Given the description of an element on the screen output the (x, y) to click on. 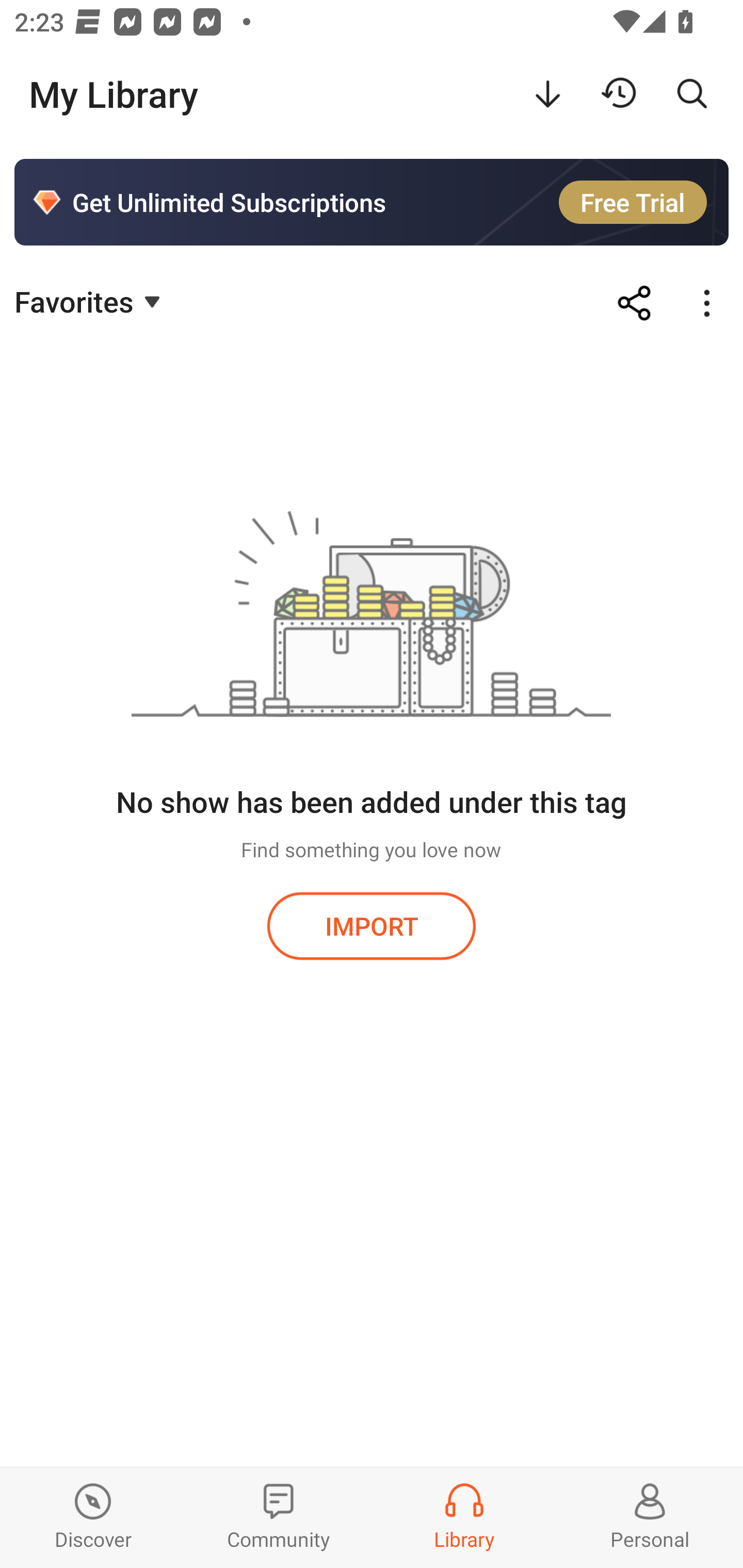
Get Unlimited Subscriptions Free Trial (371, 202)
Free Trial (632, 202)
Favorites (90, 300)
IMPORT (371, 925)
Discover (92, 1517)
Community (278, 1517)
Library (464, 1517)
Profiles and Settings Personal (650, 1517)
